Given the description of an element on the screen output the (x, y) to click on. 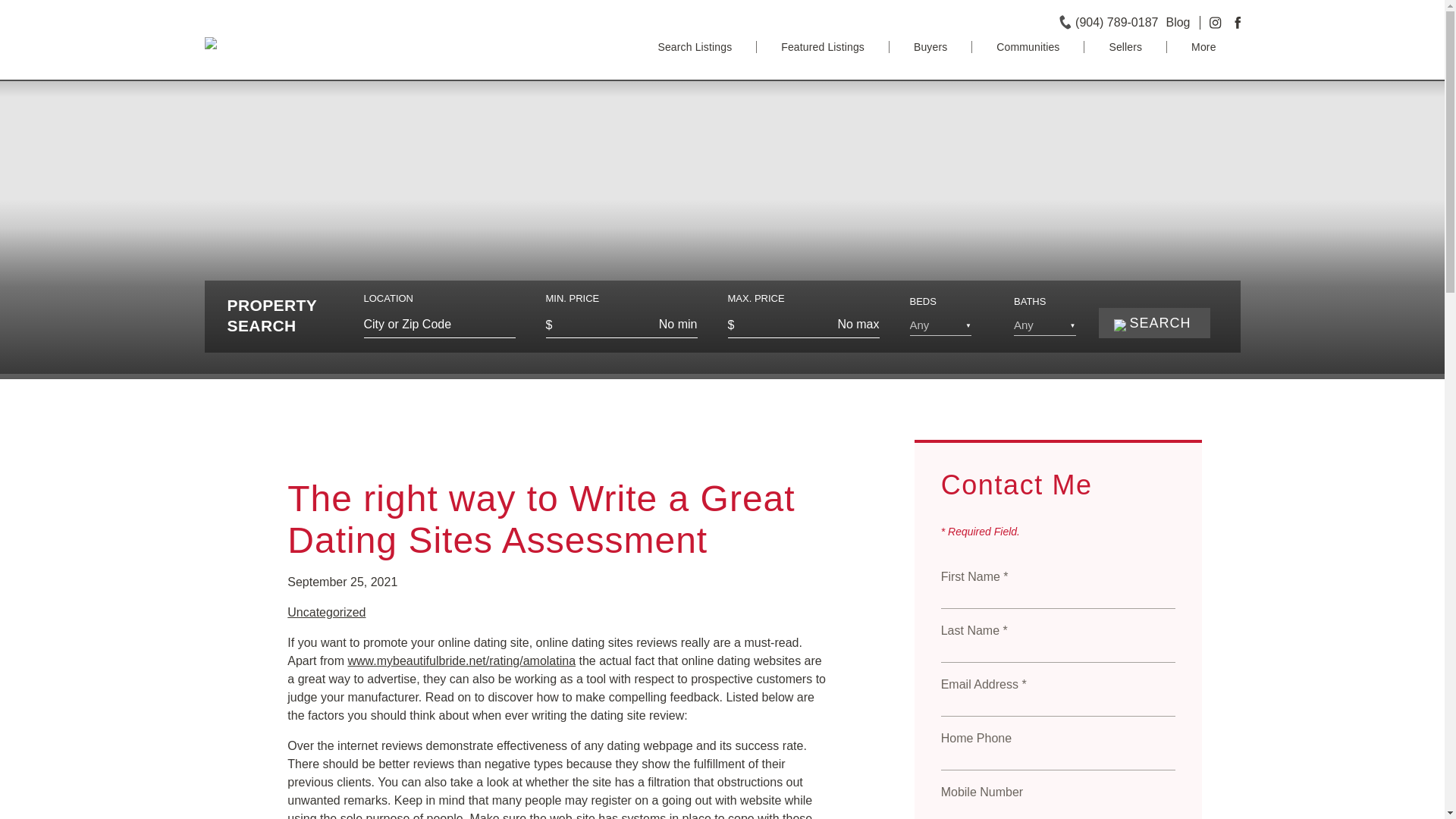
More (1203, 46)
Blog (1177, 21)
Communities (1028, 46)
Sellers (1125, 46)
The right way to Write a Great Dating Sites Assessment (540, 519)
Buyers (930, 46)
Search Listings (695, 46)
Featured Listings (823, 46)
